Given the description of an element on the screen output the (x, y) to click on. 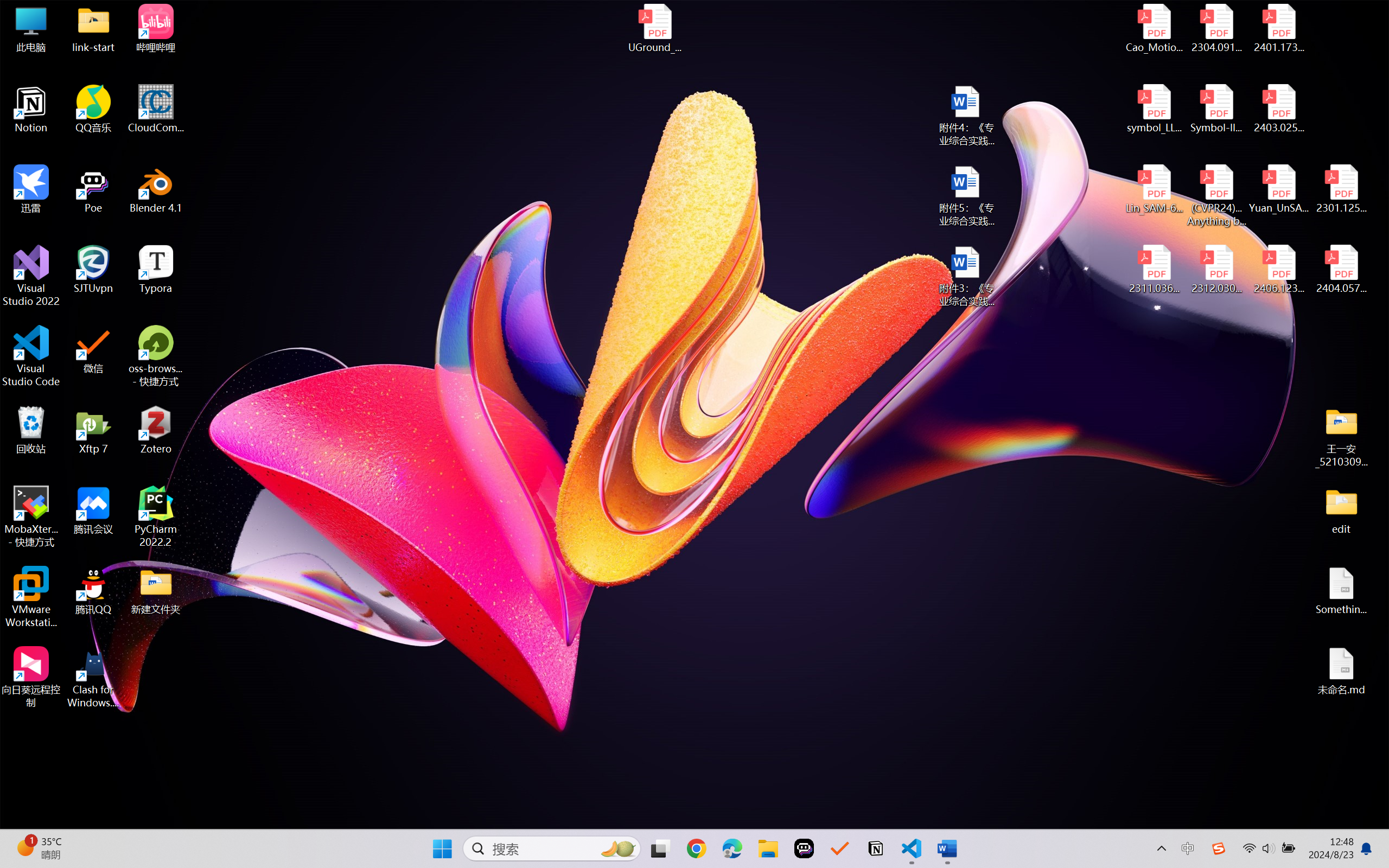
2304.09121v3.pdf (1216, 28)
PyCharm 2022.2 (156, 516)
Microsoft Edge (731, 848)
Something.md (1340, 591)
(CVPR24)Matching Anything by Segmenting Anything.pdf (1216, 195)
2311.03658v2.pdf (1154, 269)
